Given the description of an element on the screen output the (x, y) to click on. 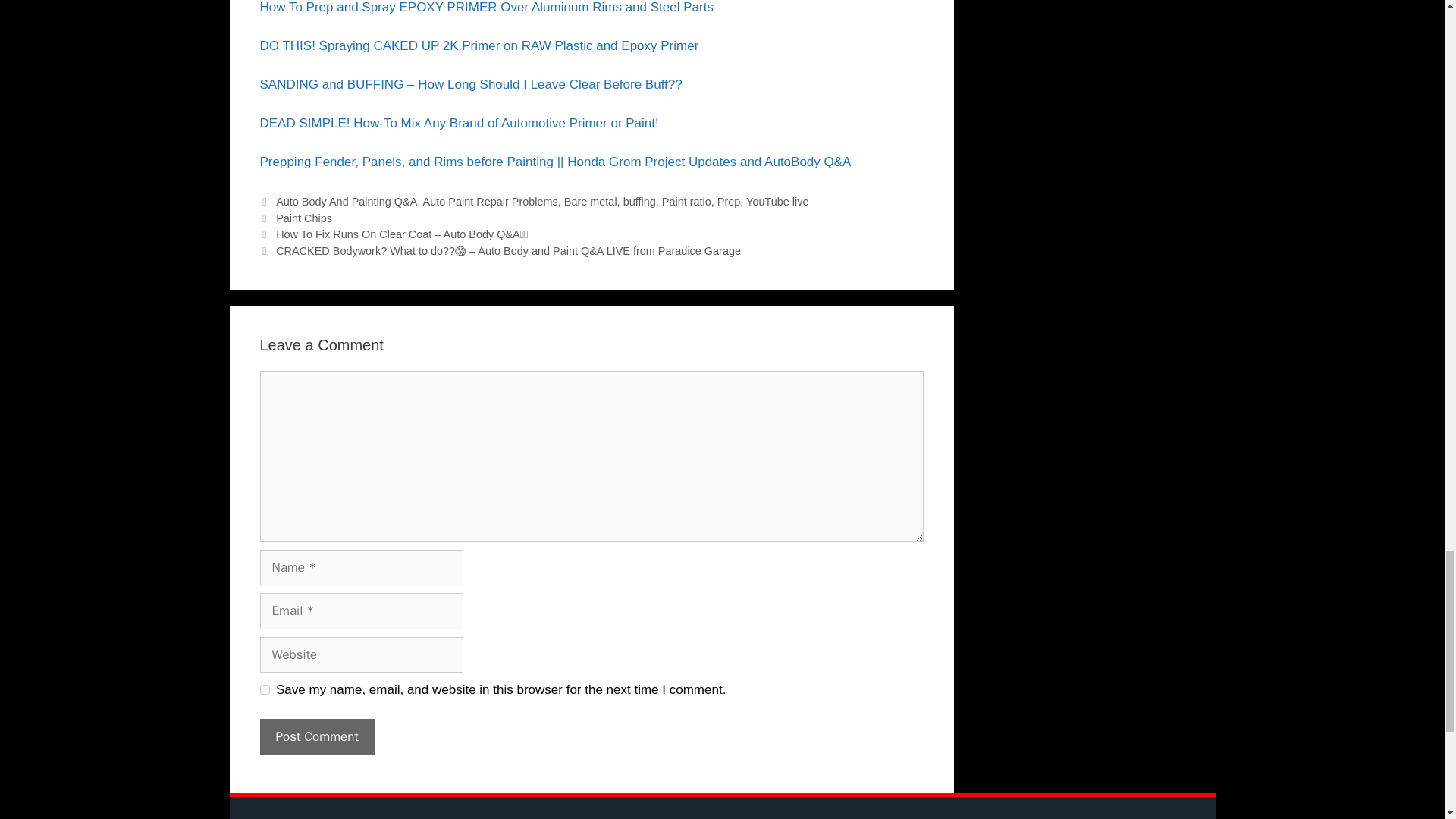
Prep (729, 201)
yes (264, 689)
Auto Paint Repair Problems (490, 201)
Paint Chips (303, 218)
Post Comment (316, 737)
YouTube live (776, 201)
buffing (639, 201)
Paint ratio (686, 201)
Bare metal (590, 201)
Post Comment (316, 737)
